Given the description of an element on the screen output the (x, y) to click on. 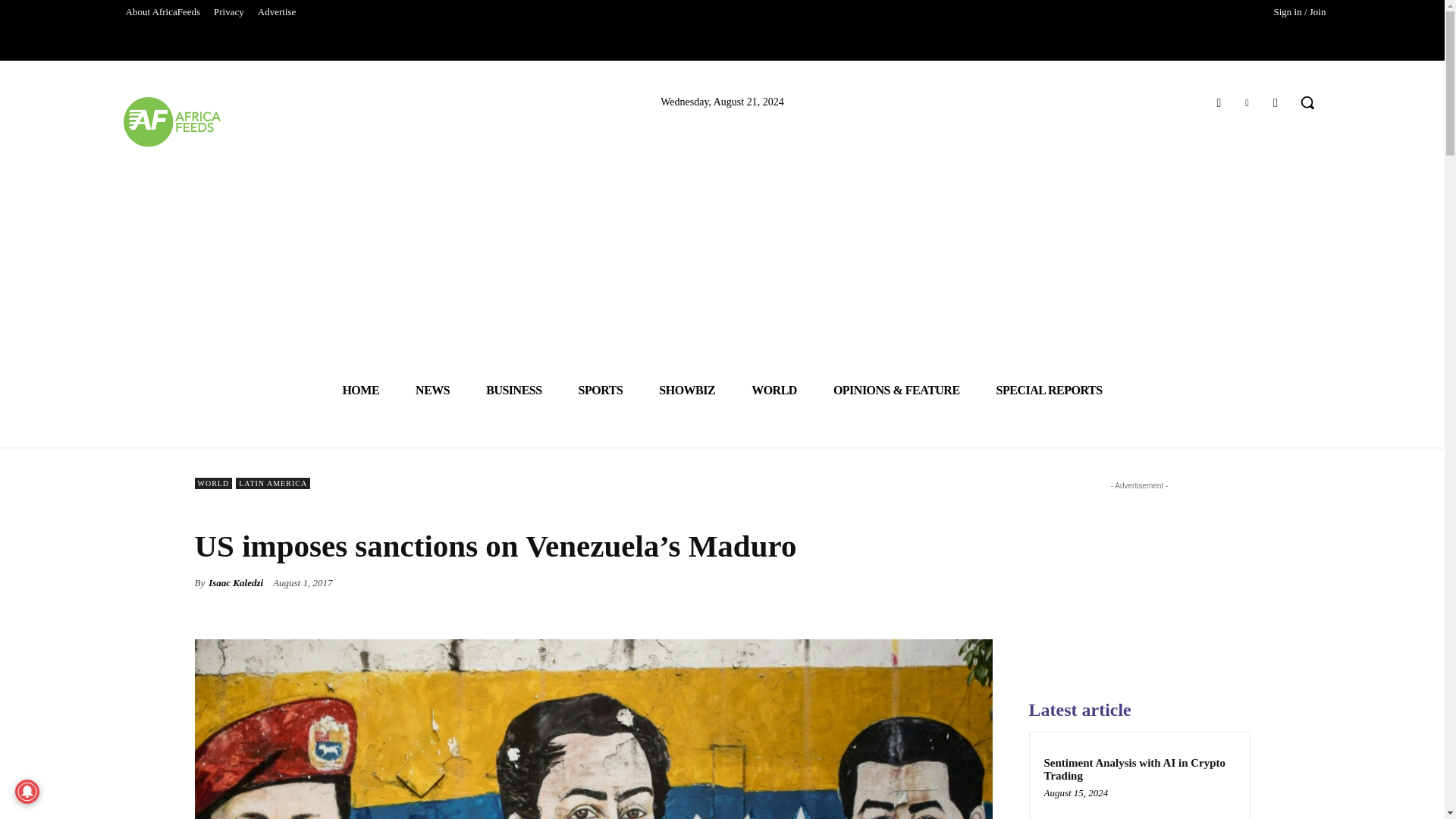
SHOWBIZ (686, 390)
BUSINESS (513, 390)
Privacy (228, 12)
SPECIAL REPORTS (1049, 390)
Facebook (1218, 102)
About AfricaFeeds (161, 12)
SPORTS (601, 390)
WORLD (774, 390)
